Given the description of an element on the screen output the (x, y) to click on. 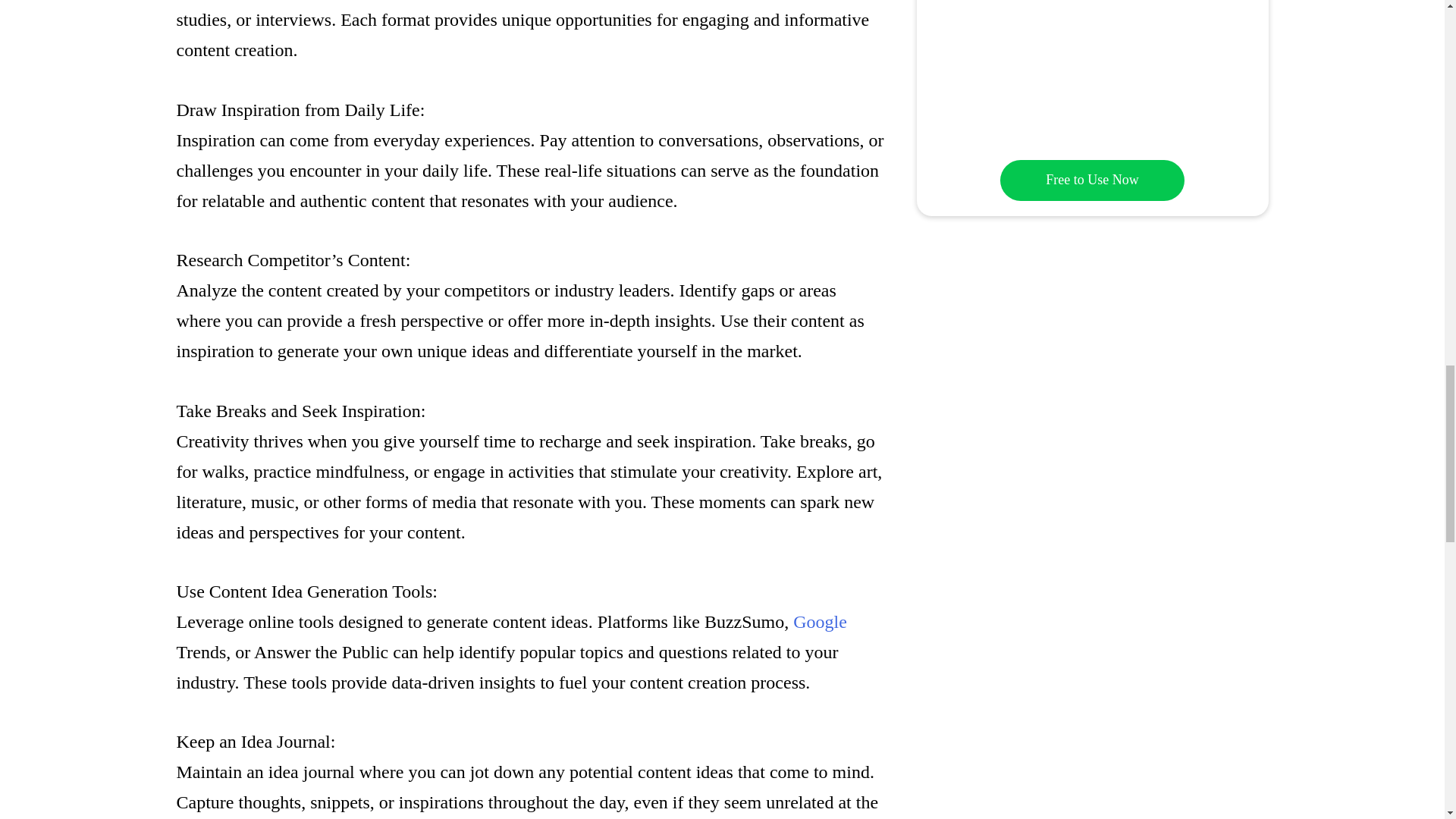
What Are The Recent Google Updates (820, 621)
